Given the description of an element on the screen output the (x, y) to click on. 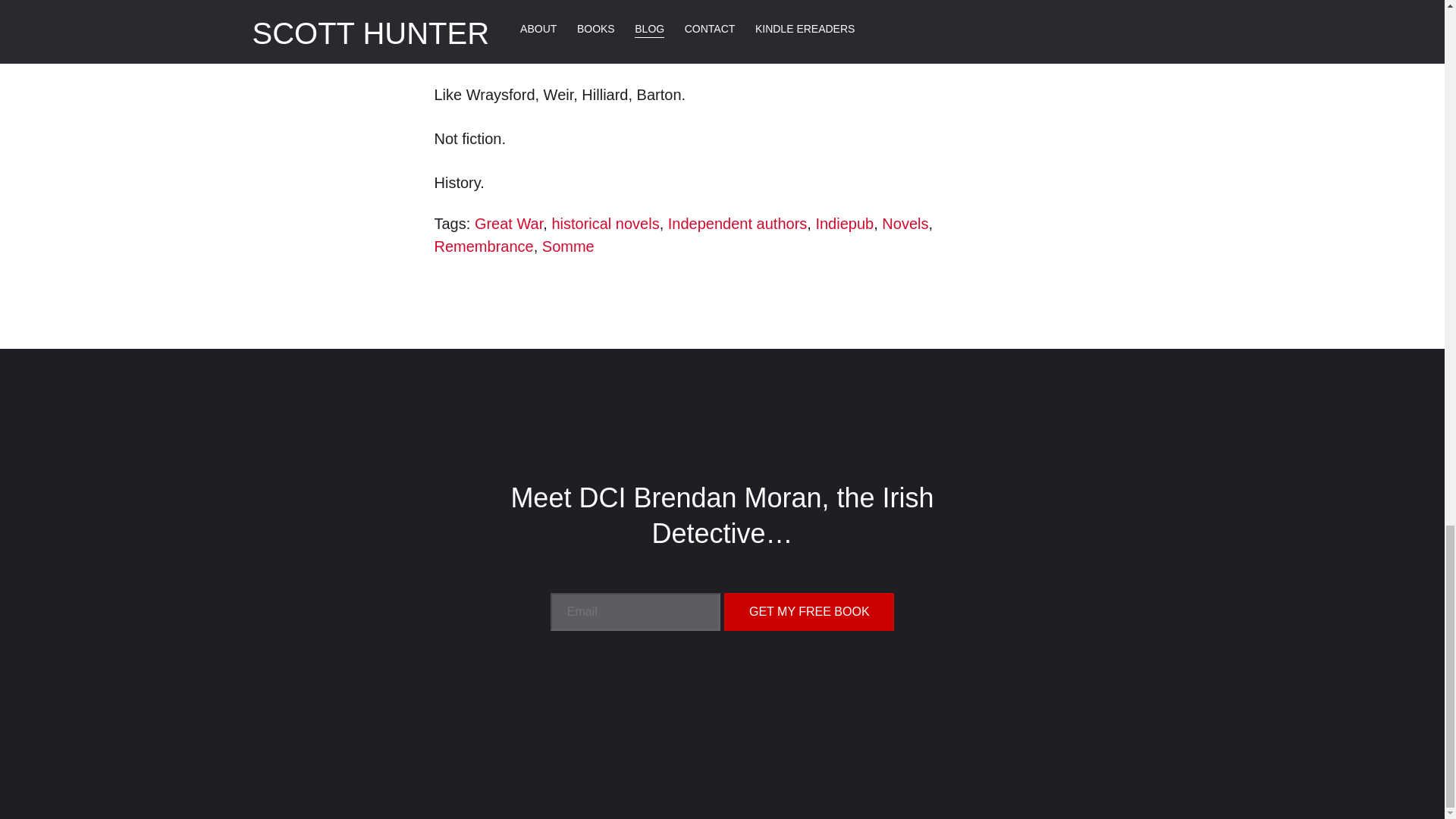
Great War (508, 223)
Indiepub (844, 223)
GET MY FREE BOOK (808, 611)
Remembrance (482, 246)
Novels (905, 223)
Somme (567, 246)
historical novels (605, 223)
Independent authors (738, 223)
